Given the description of an element on the screen output the (x, y) to click on. 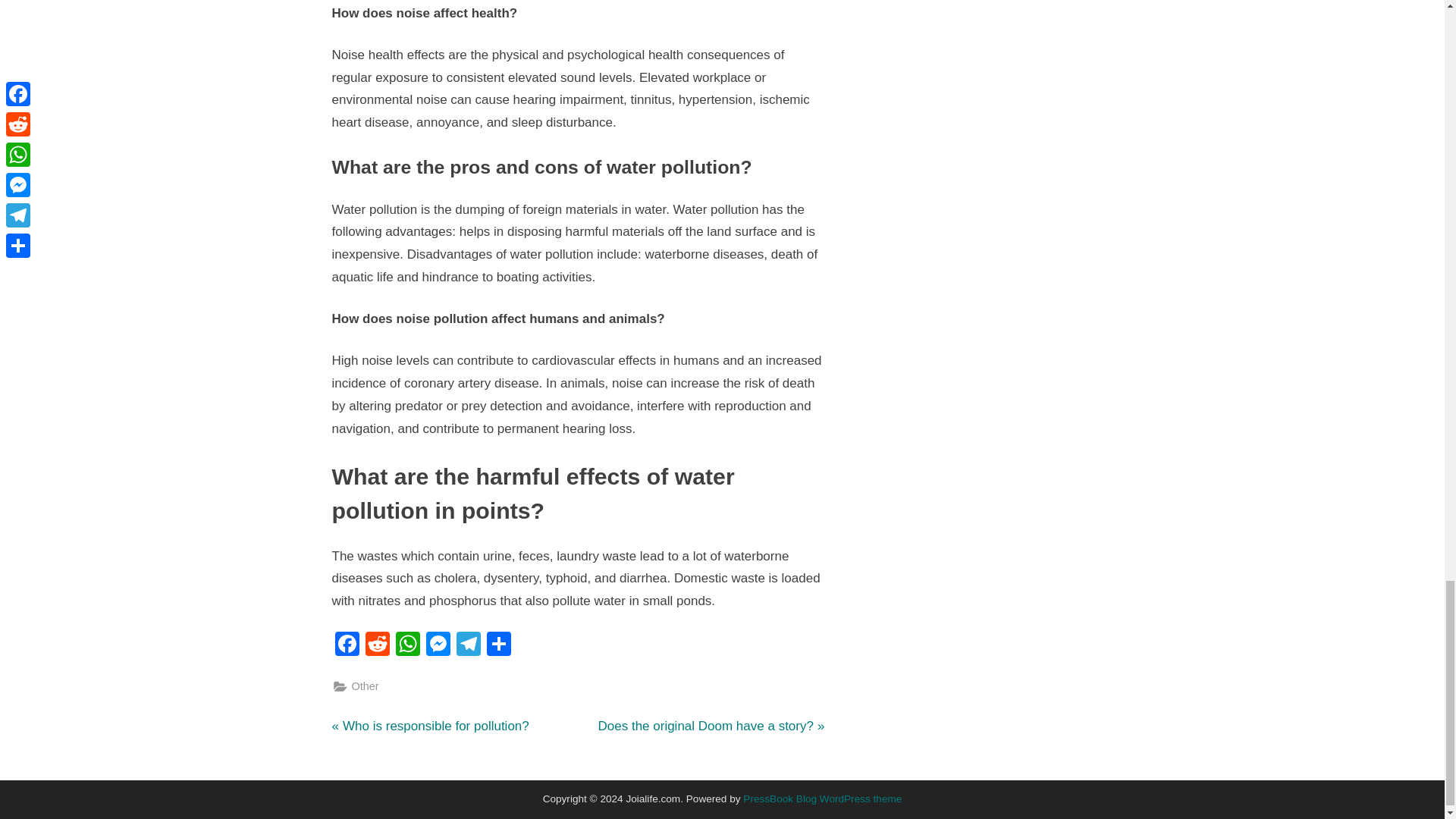
WhatsApp (408, 645)
Telegram (467, 645)
Facebook (346, 645)
Reddit (377, 645)
PressBook Blog WordPress theme (821, 798)
Telegram (467, 645)
WhatsApp (408, 645)
Messenger (430, 725)
Facebook (710, 725)
Reddit (437, 645)
Other (346, 645)
Messenger (377, 645)
